Given the description of an element on the screen output the (x, y) to click on. 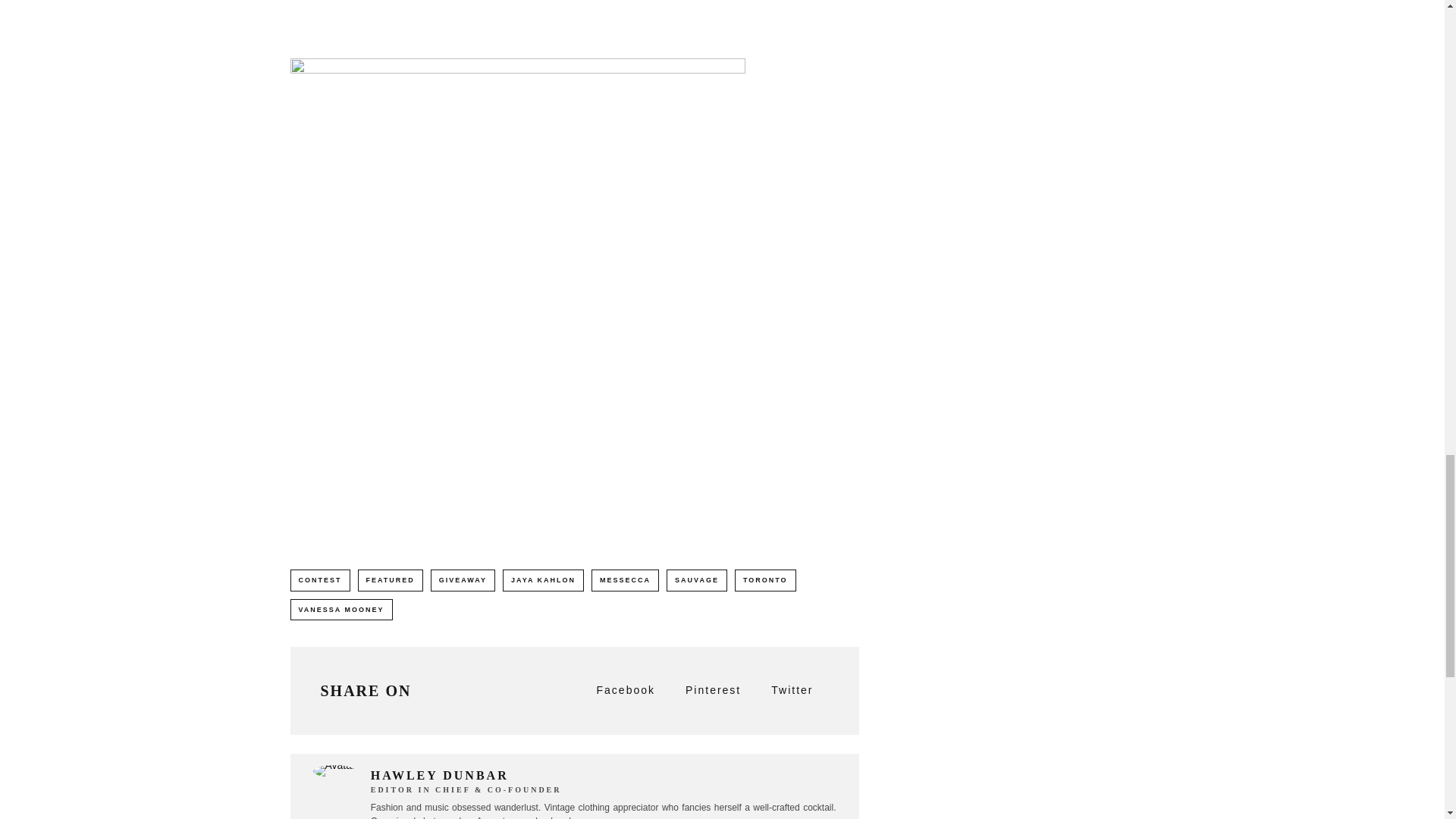
Messeca (516, 16)
